Given the description of an element on the screen output the (x, y) to click on. 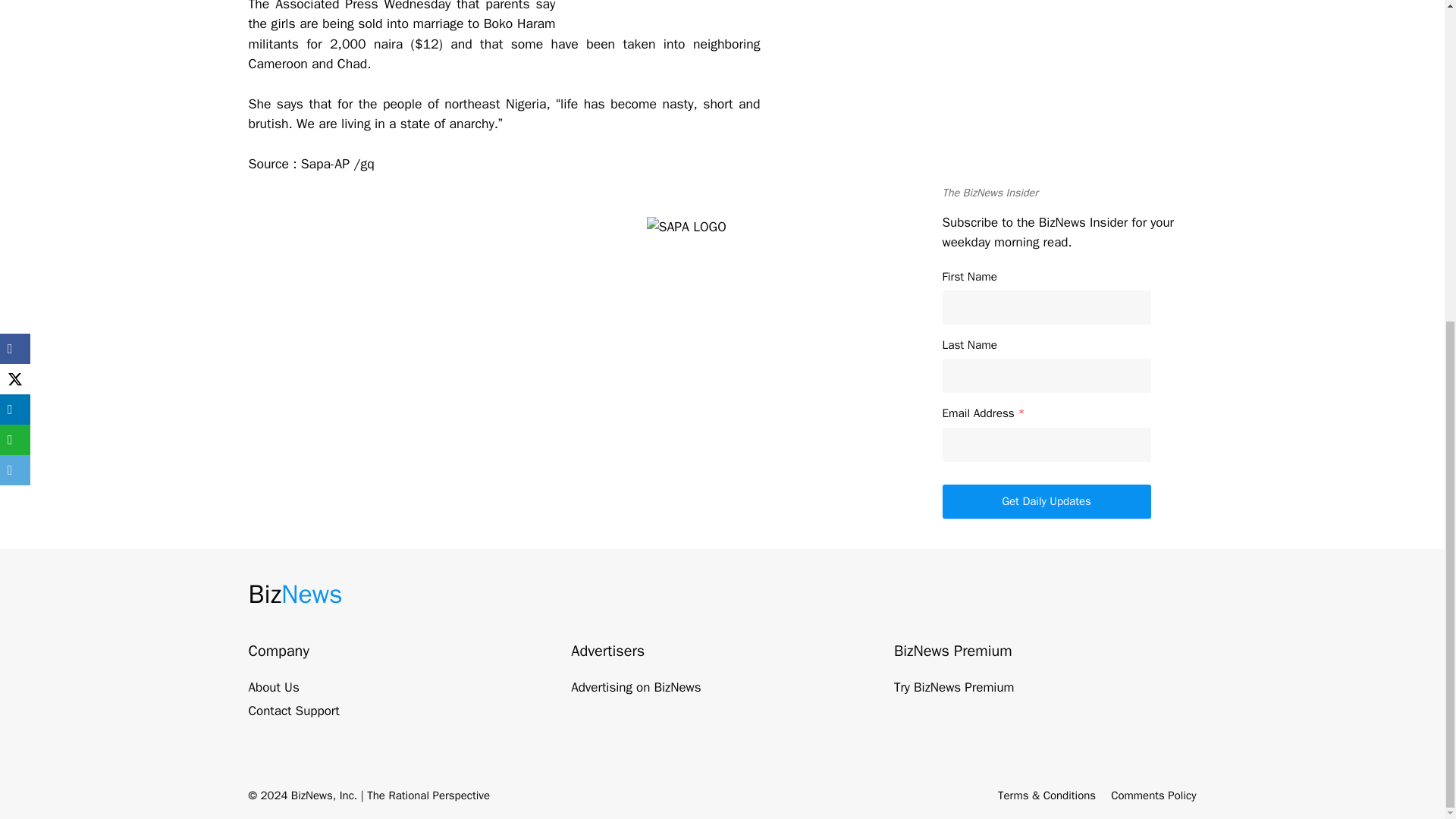
Spotify Embed: BizNews Radio (1068, 97)
BizNews (295, 594)
Get Daily Updates (1046, 501)
